Given the description of an element on the screen output the (x, y) to click on. 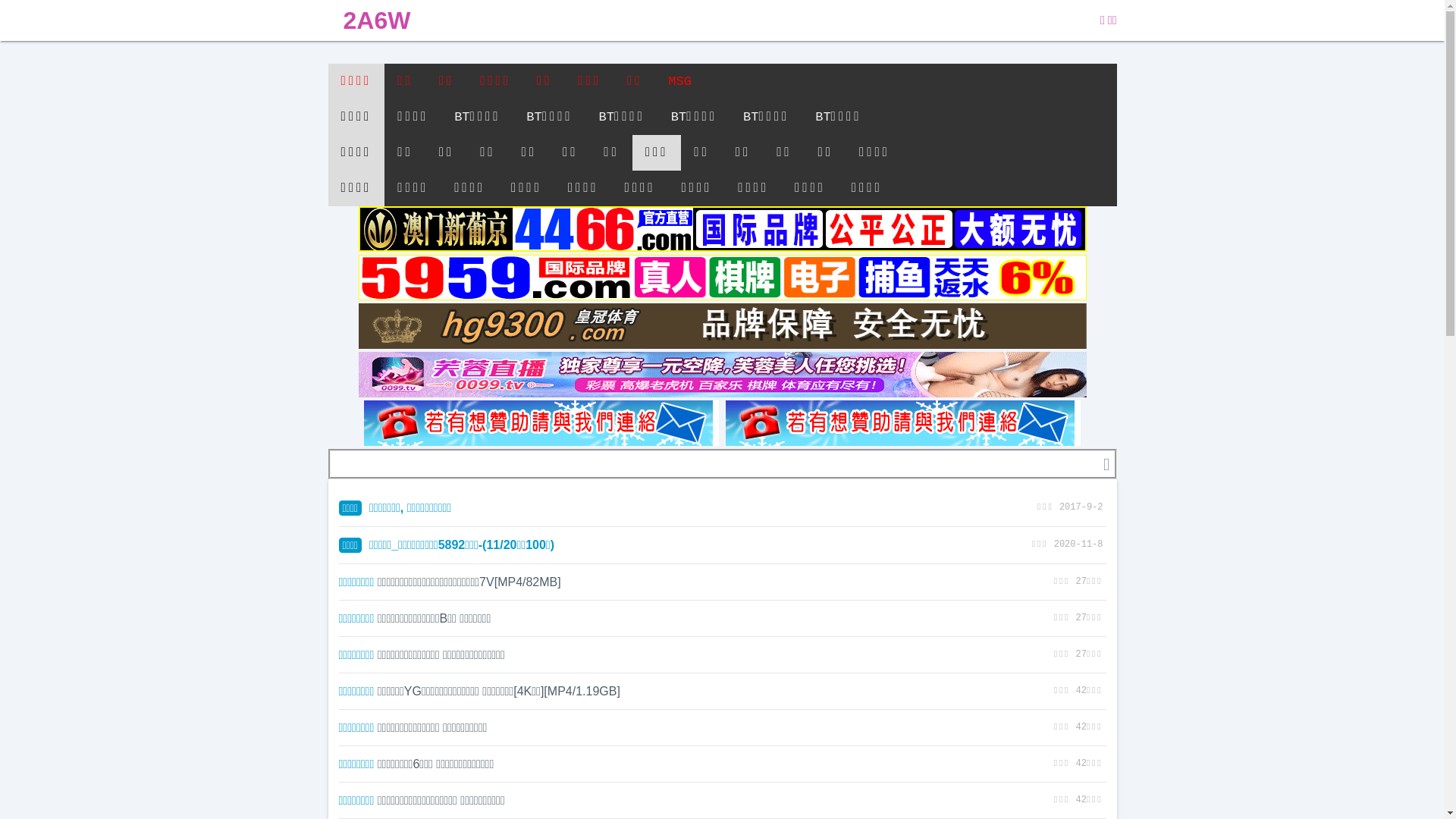
MSG Element type: text (679, 81)
2A6W Element type: text (376, 20)
